Given the description of an element on the screen output the (x, y) to click on. 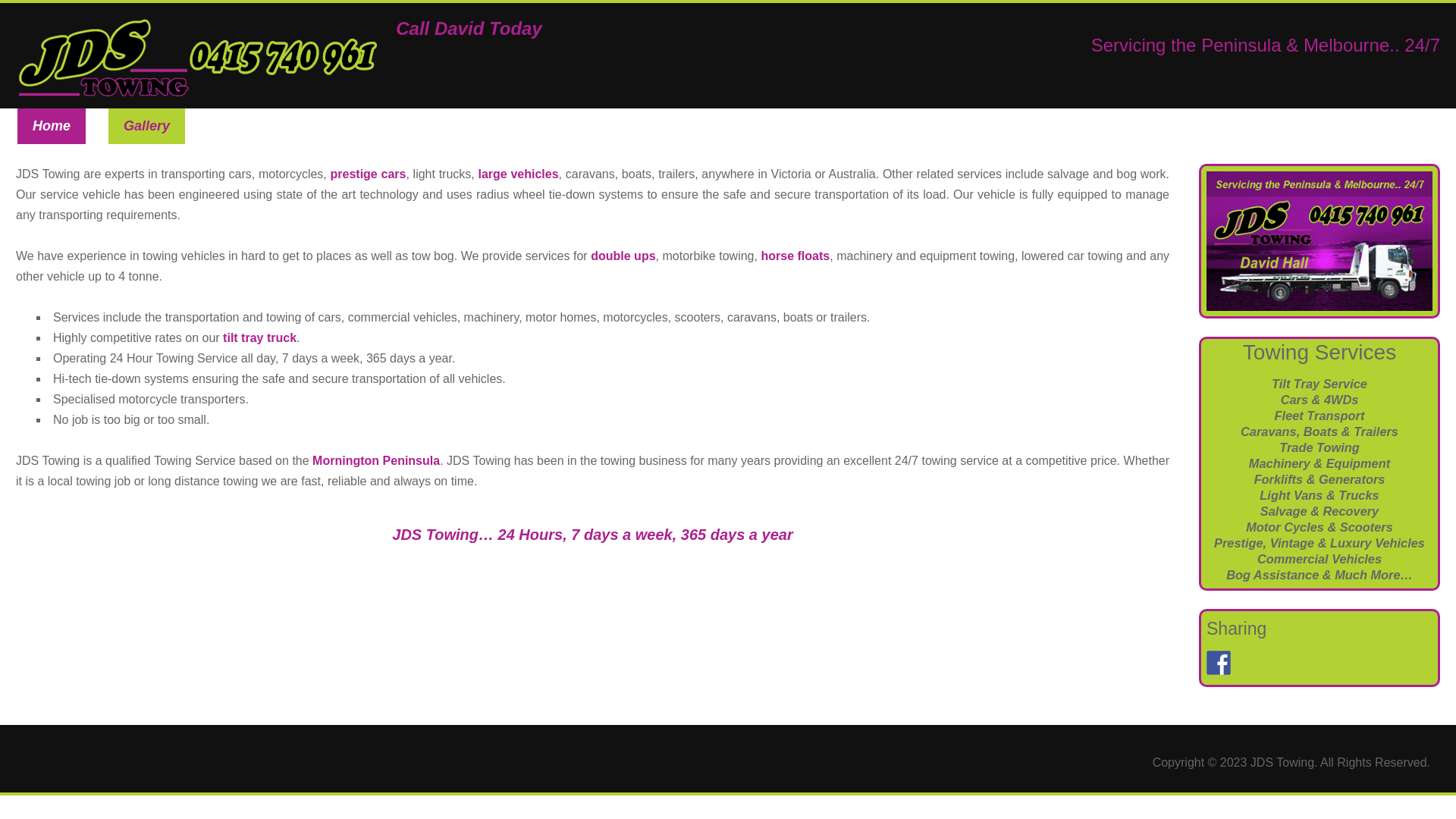
Gallery Element type: text (146, 126)
Home Element type: text (51, 126)
Share on Facebook Element type: hover (1218, 662)
prestige cars Element type: text (368, 173)
double ups Element type: text (622, 255)
Mornington Peninsula Element type: text (375, 460)
horse floats Element type: text (794, 255)
tilt tray truck Element type: text (259, 337)
large vehicles Element type: text (517, 173)
